Given the description of an element on the screen output the (x, y) to click on. 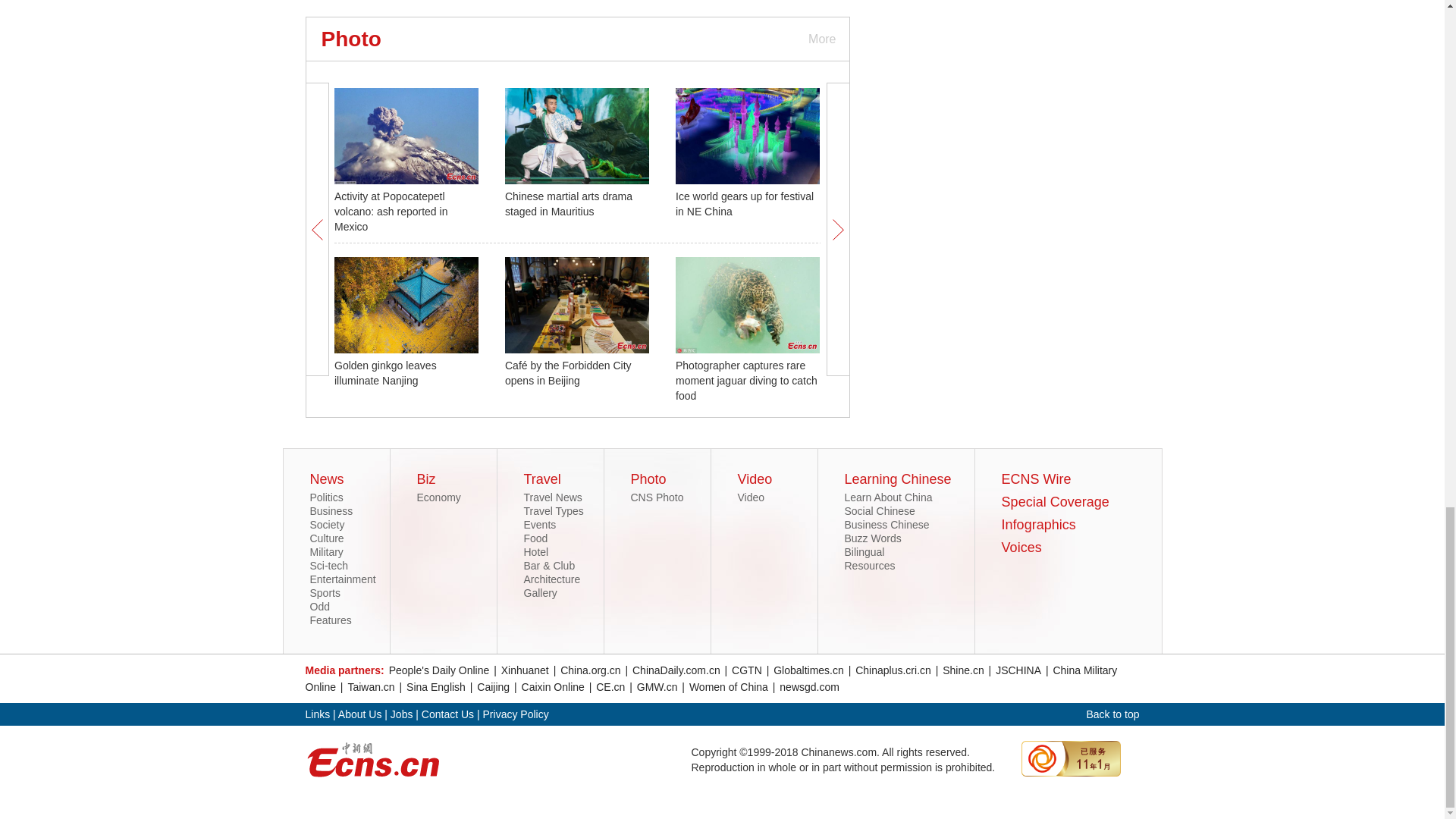
Chinese martial arts drama staged in Mauritius (568, 203)
Ice world gears up for festival in NE China (744, 203)
Golden ginkgo leaves illuminate Nanjing (385, 372)
Activity at Popocatepetl volcano: ash reported in Mexico (390, 211)
